Given the description of an element on the screen output the (x, y) to click on. 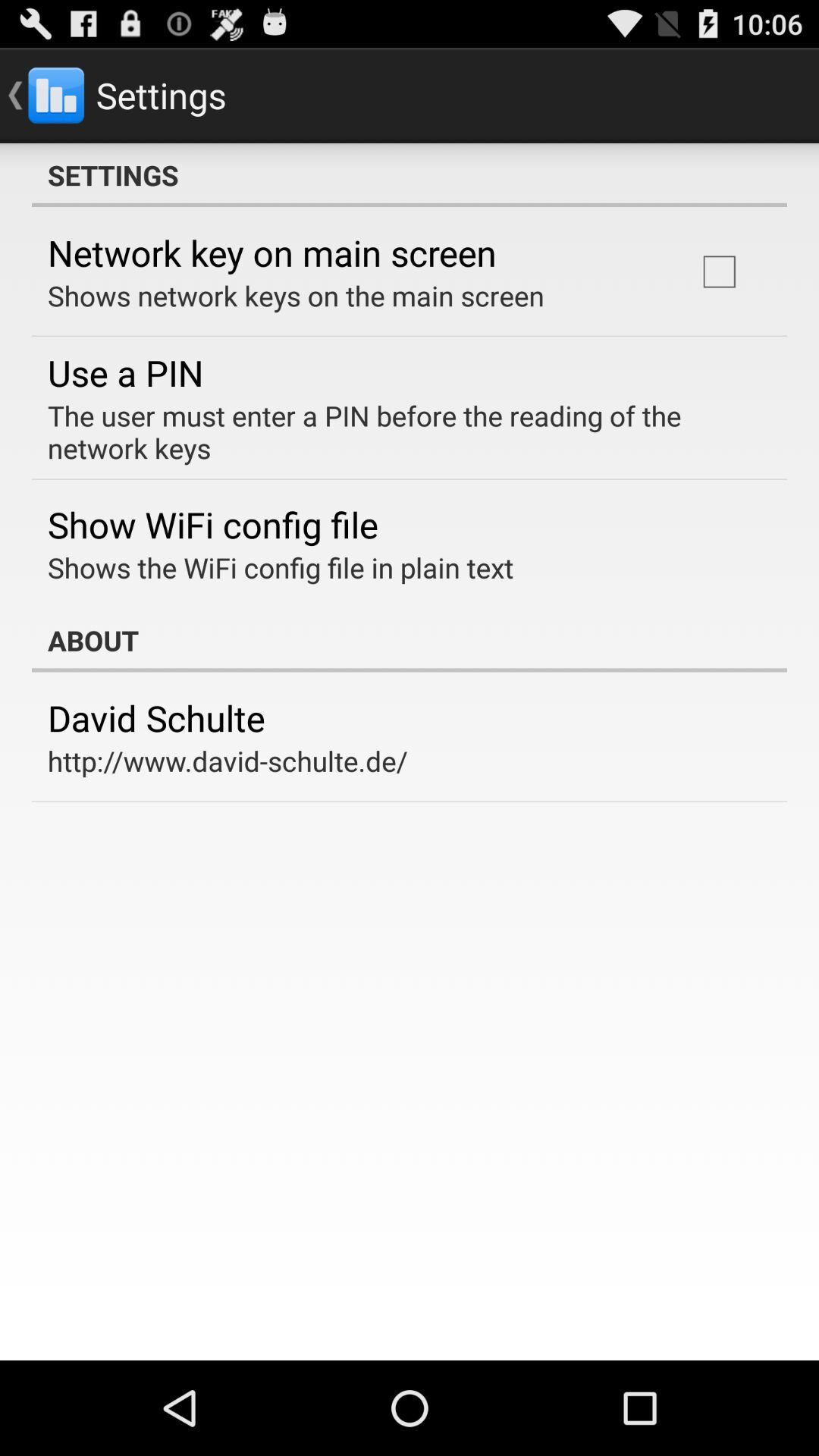
tap the item above show wifi config item (399, 431)
